Given the description of an element on the screen output the (x, y) to click on. 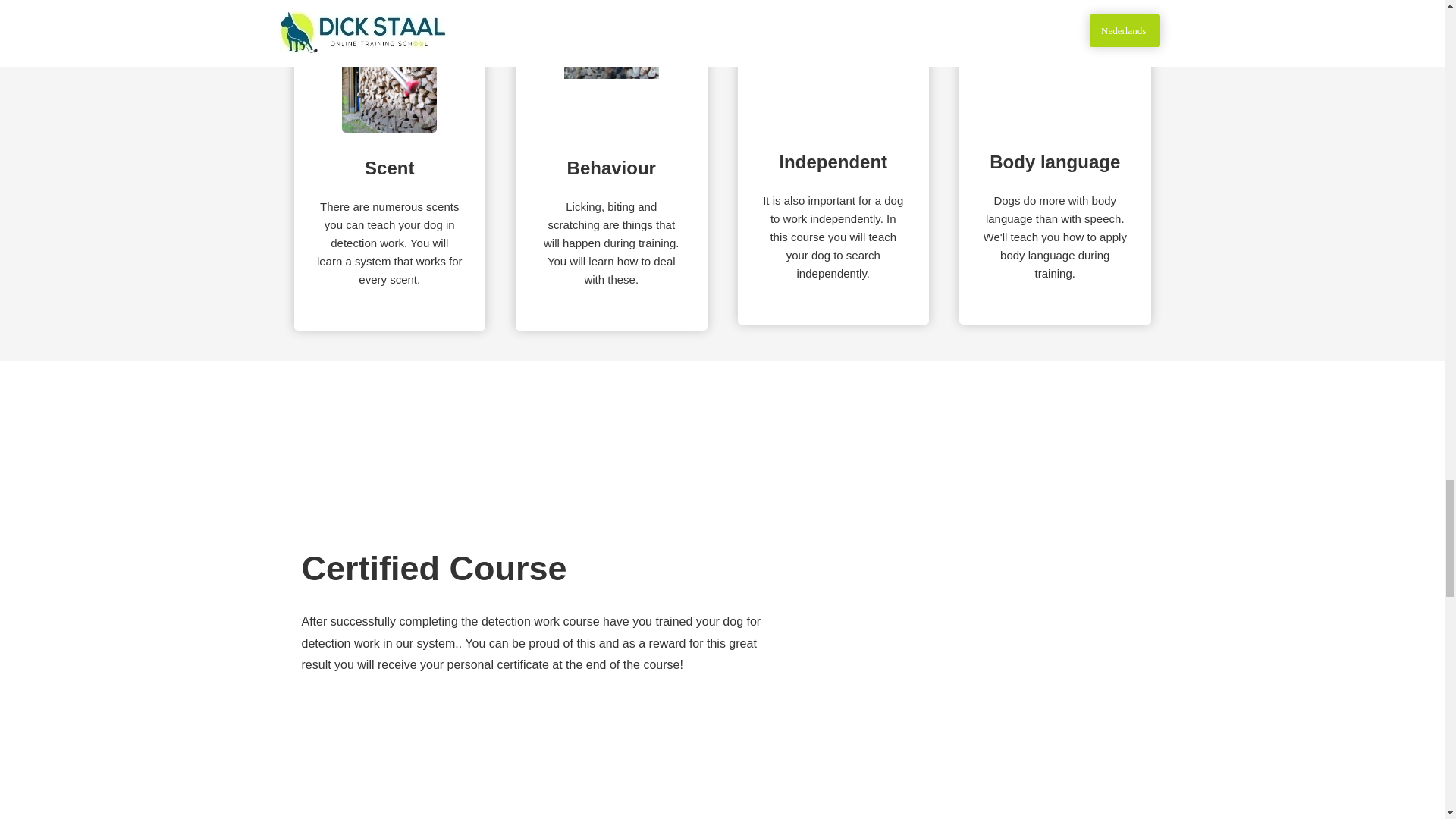
Scent (389, 84)
body language (1054, 84)
Independent (833, 84)
